Given the description of an element on the screen output the (x, y) to click on. 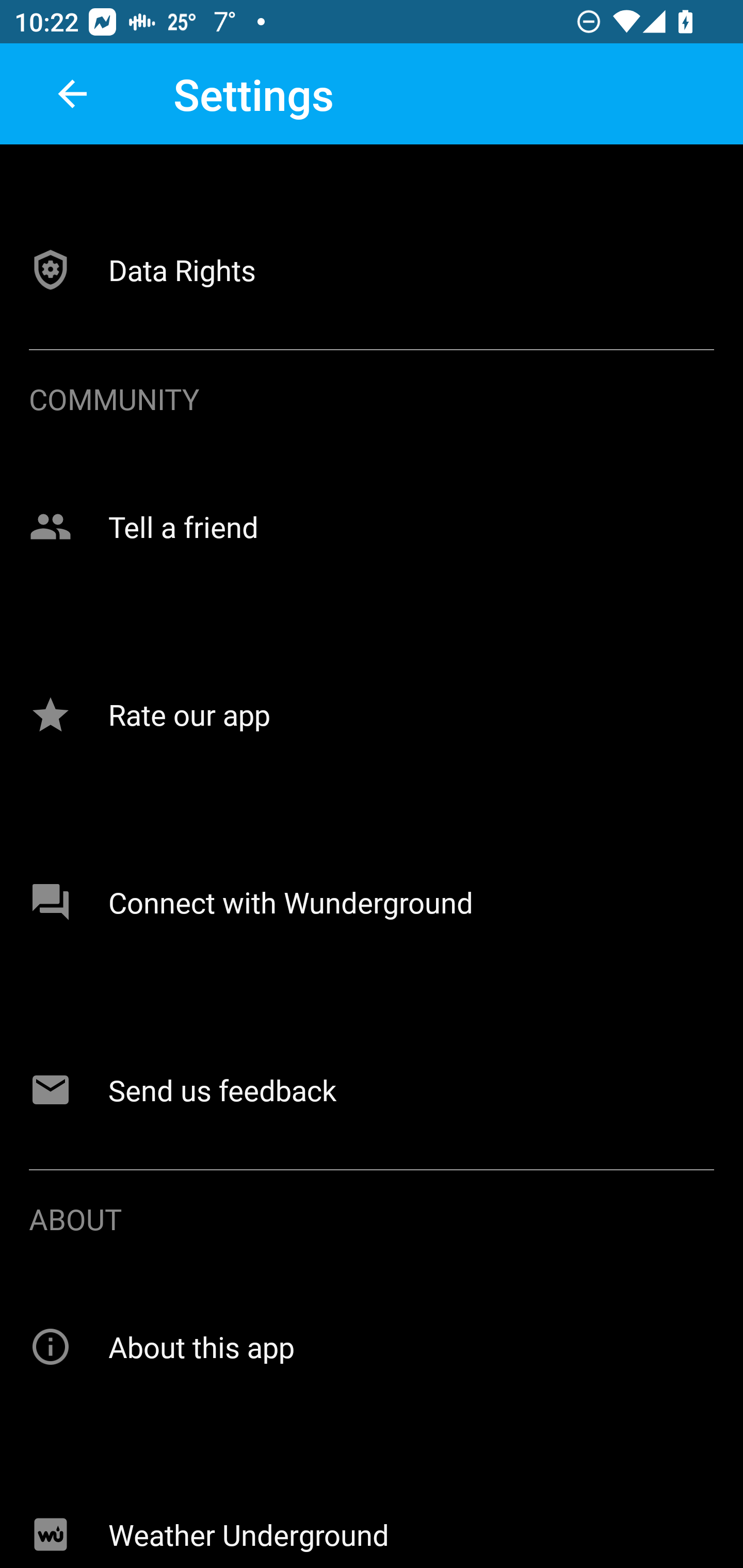
back (71, 93)
Data Rights (371, 269)
Tell a friend Tell a friend. Open in browser (371, 526)
Rate our app (371, 714)
Connect with Wunderground (371, 902)
Send us feedback Send us feedback. Open in browser (371, 1089)
About this app (371, 1346)
Weather Underground (371, 1511)
